Given the description of an element on the screen output the (x, y) to click on. 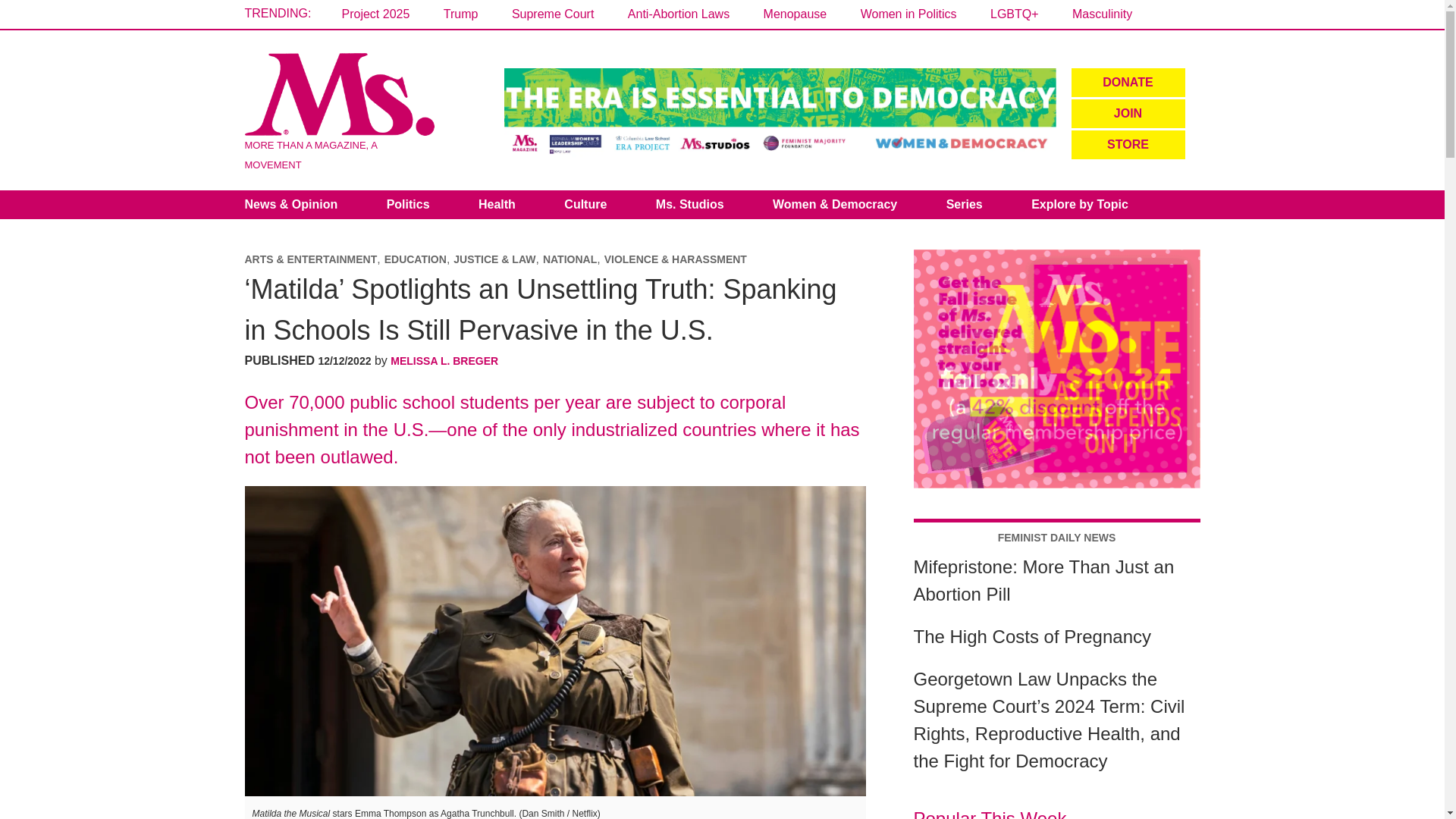
MELISSA L. BREGER (443, 360)
NATIONAL (569, 259)
Series (964, 204)
Anti-Abortion Laws (678, 13)
DONATE (1127, 82)
Project 2025 (374, 13)
EDUCATION (415, 259)
Women in Politics (908, 13)
Trump (461, 13)
Culture (584, 204)
Masculinity (1101, 13)
Politics (408, 204)
Explore by Topic (1080, 204)
JOIN (1127, 113)
Menopause (794, 13)
